Given the description of an element on the screen output the (x, y) to click on. 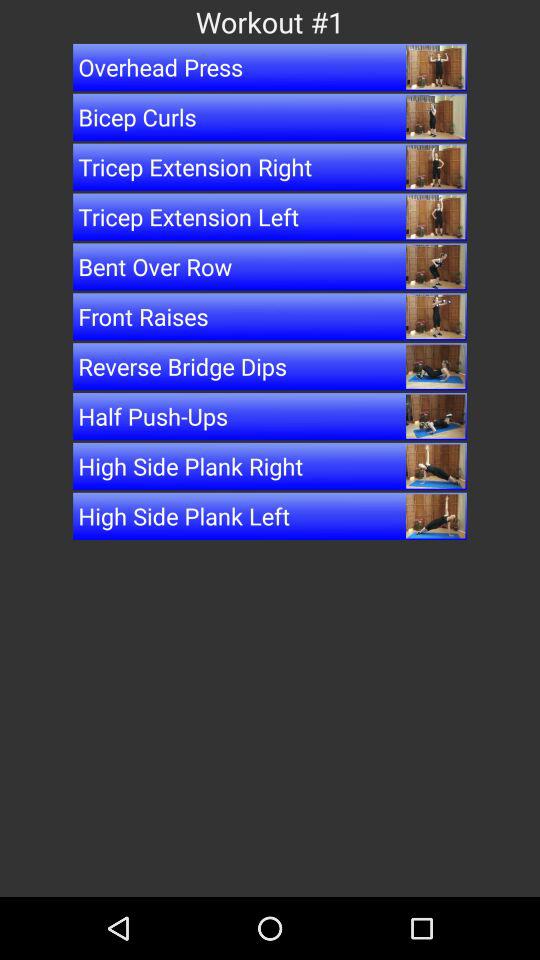
select the button below overhead press icon (269, 116)
